Given the description of an element on the screen output the (x, y) to click on. 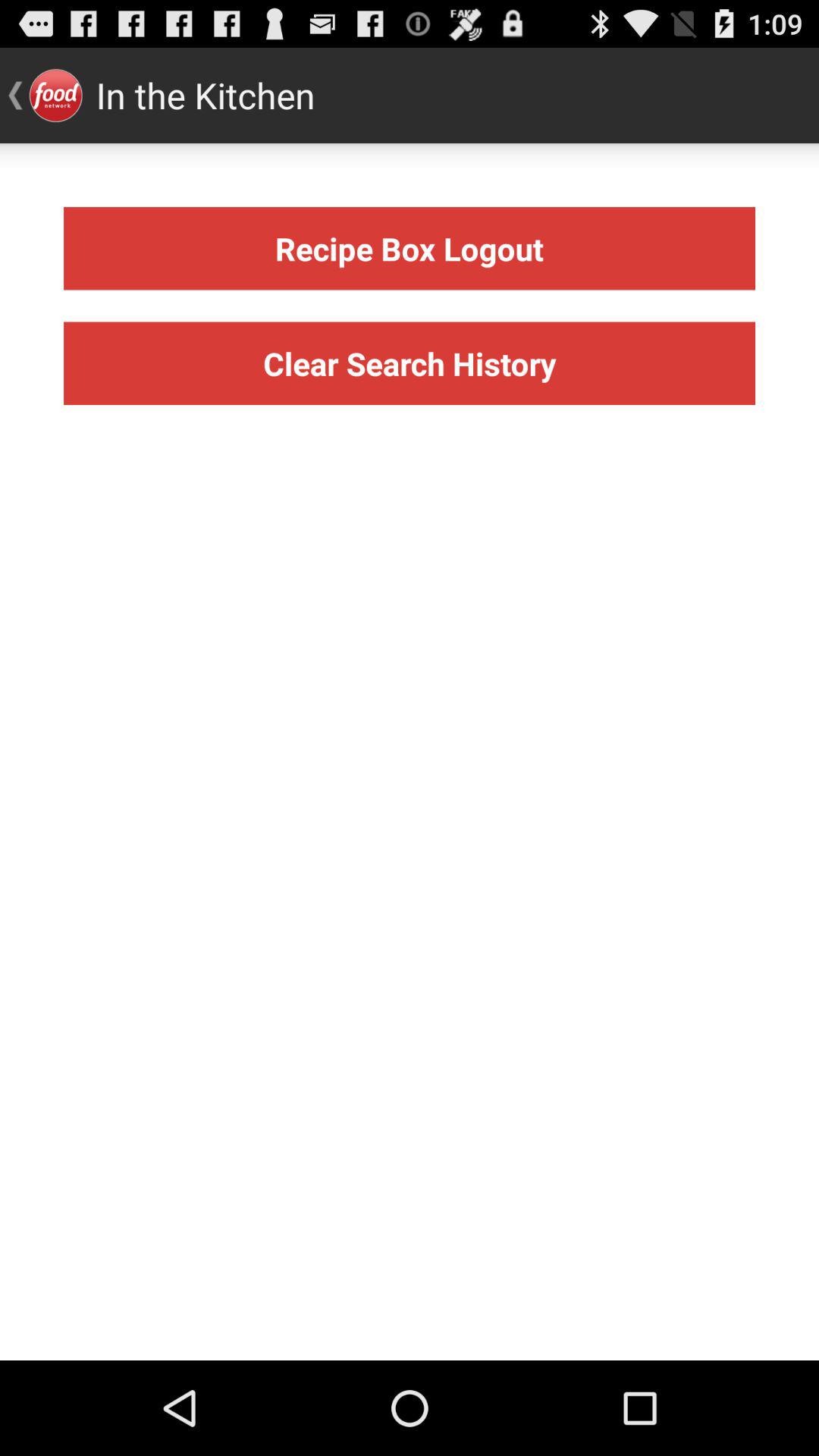
scroll until the clear search history item (409, 362)
